Given the description of an element on the screen output the (x, y) to click on. 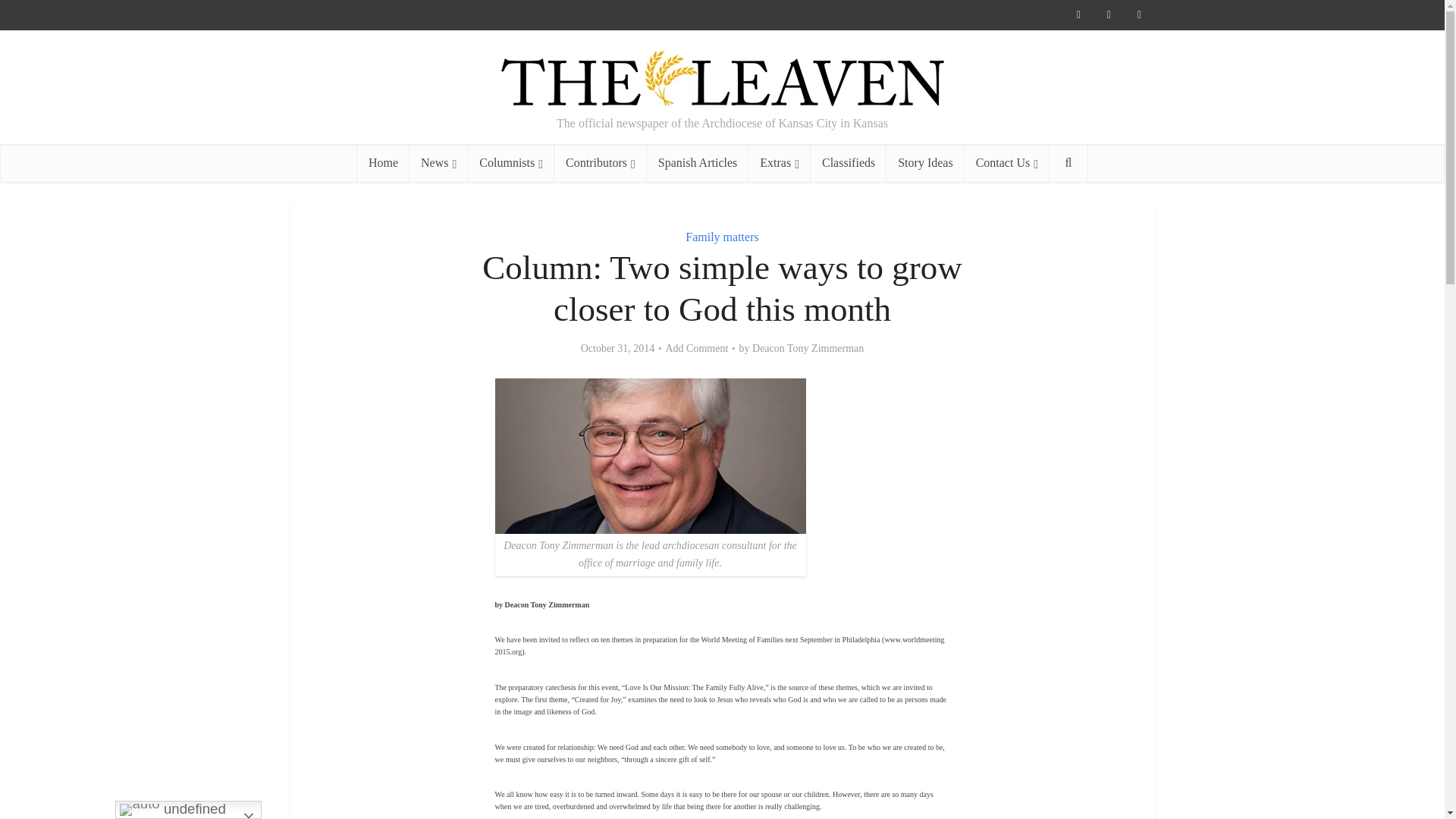
Home (382, 162)
Page 8 (722, 750)
Extras (779, 162)
Contributors (600, 162)
Classifieds (848, 162)
News (438, 162)
Spanish Articles (697, 162)
Page 8 (722, 780)
None (438, 162)
Columnists (510, 162)
